Given the description of an element on the screen output the (x, y) to click on. 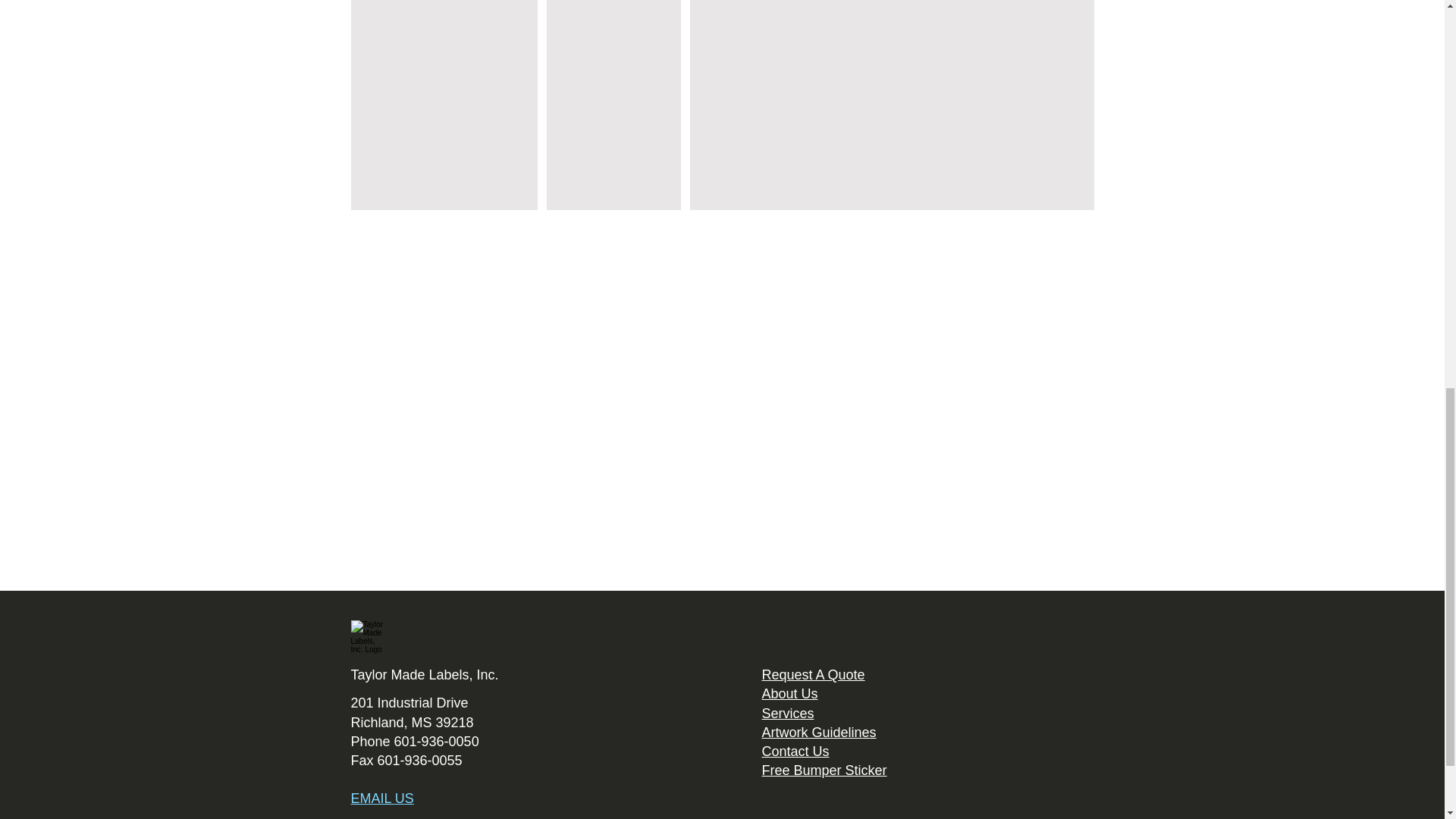
EMAIL US (381, 798)
Taylor Made Labels, Inc. (423, 674)
Artwork Guidelines (818, 732)
About Us (788, 693)
Contact Us (794, 751)
Request A Quote (812, 674)
Free Bumper Sticker (823, 770)
Services (787, 713)
